Given the description of an element on the screen output the (x, y) to click on. 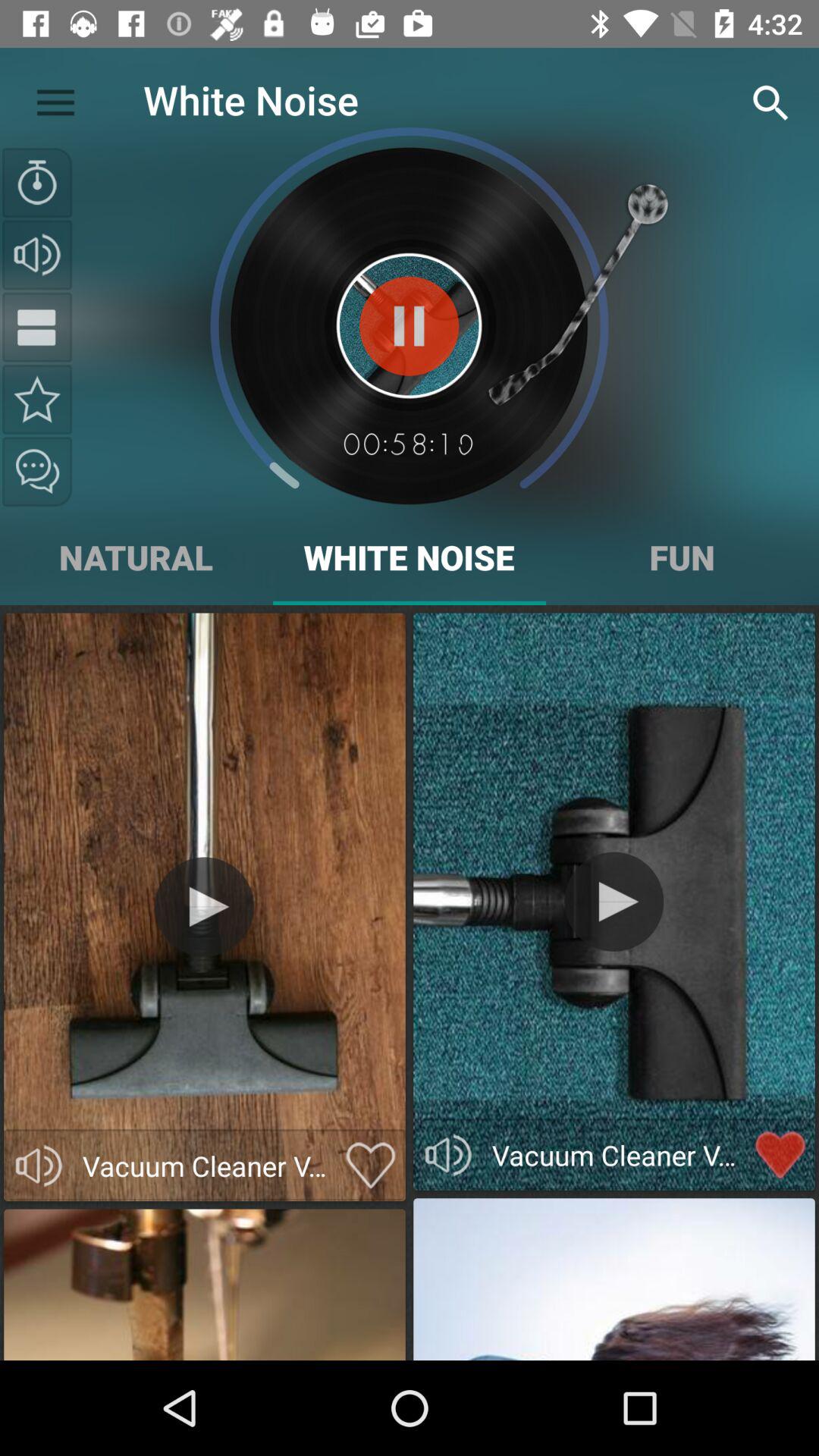
go to menu options (37, 327)
